Given the description of an element on the screen output the (x, y) to click on. 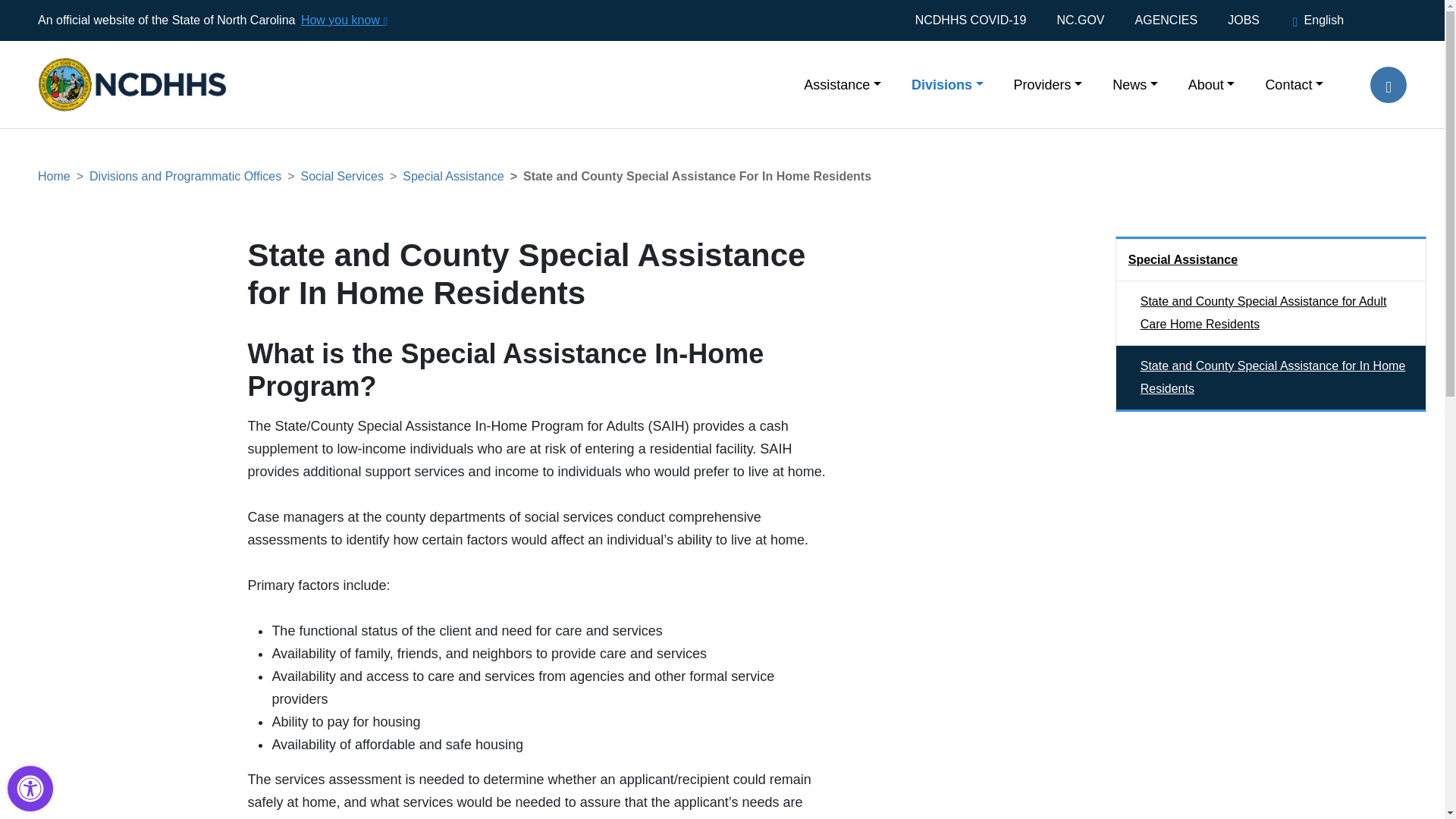
NCDHHS COVID-19 (978, 20)
Divisions (947, 83)
JOBS (1243, 20)
Home (116, 61)
How you know (342, 20)
Assistance (842, 83)
AGENCIES (1165, 20)
NC.GOV (1080, 20)
